Given the description of an element on the screen output the (x, y) to click on. 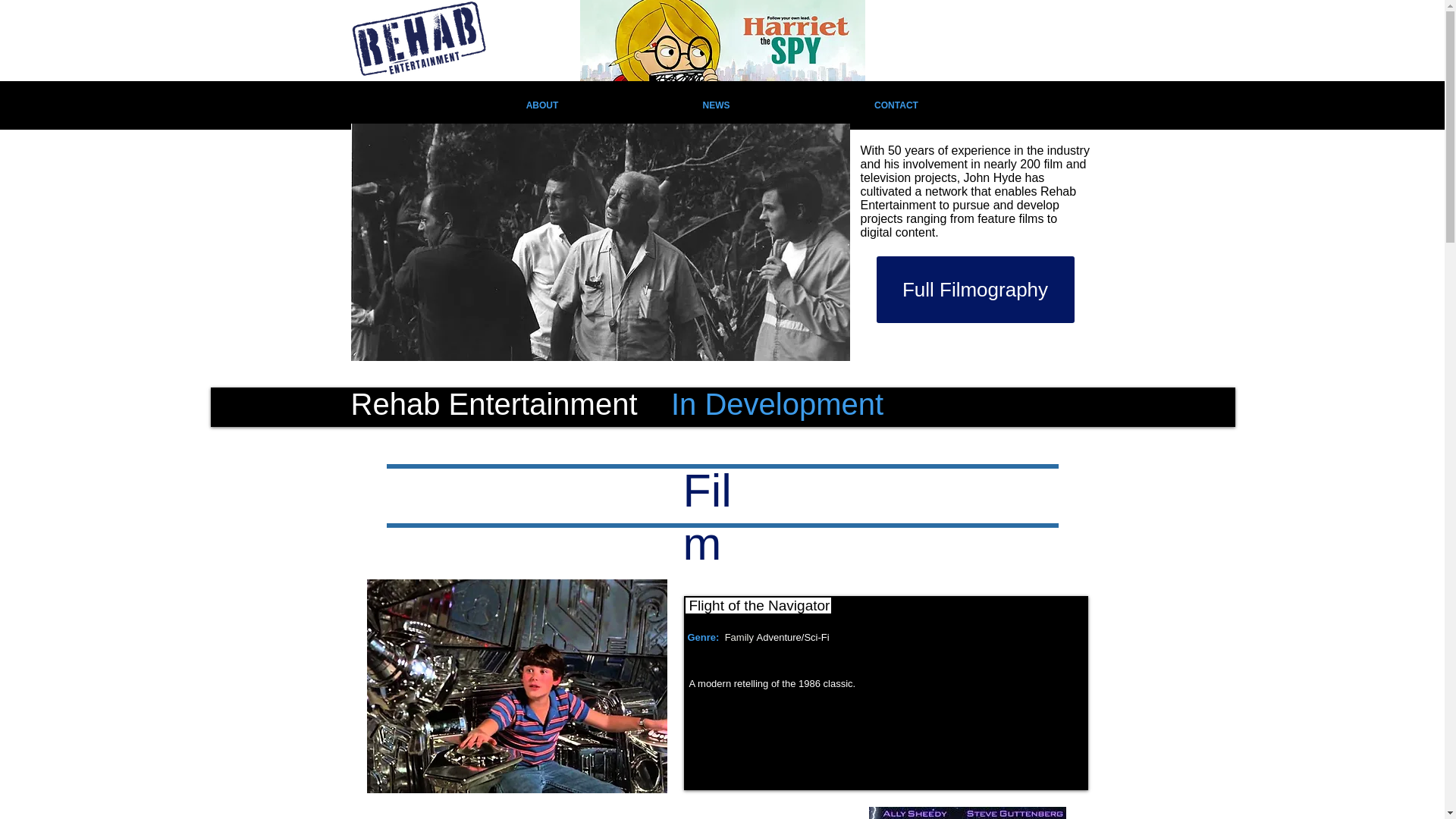
Full Filmography (975, 289)
NEWS (716, 105)
follow your own lead.jpg (721, 40)
ABOUT (541, 105)
CONTACT (896, 105)
